Given the description of an element on the screen output the (x, y) to click on. 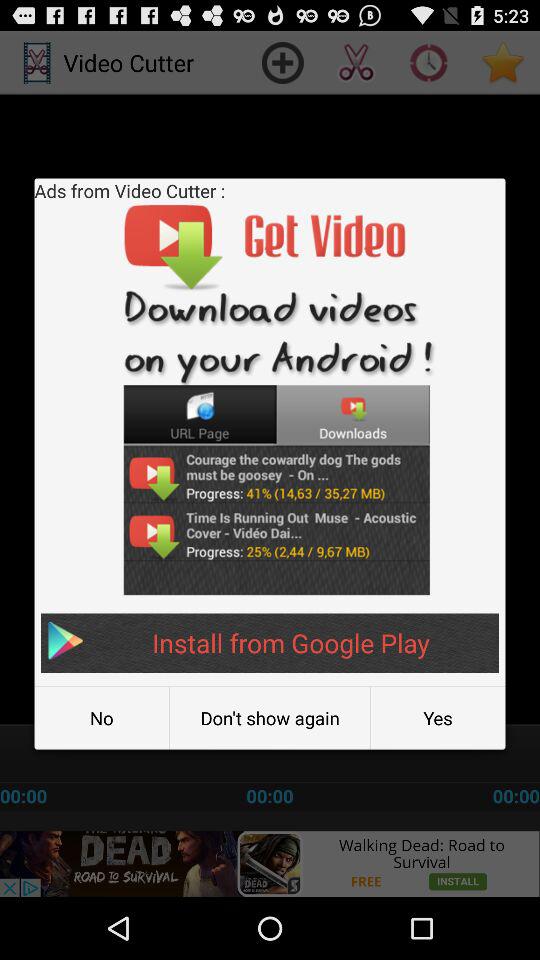
select the icon to the right of the no button (269, 717)
